Given the description of an element on the screen output the (x, y) to click on. 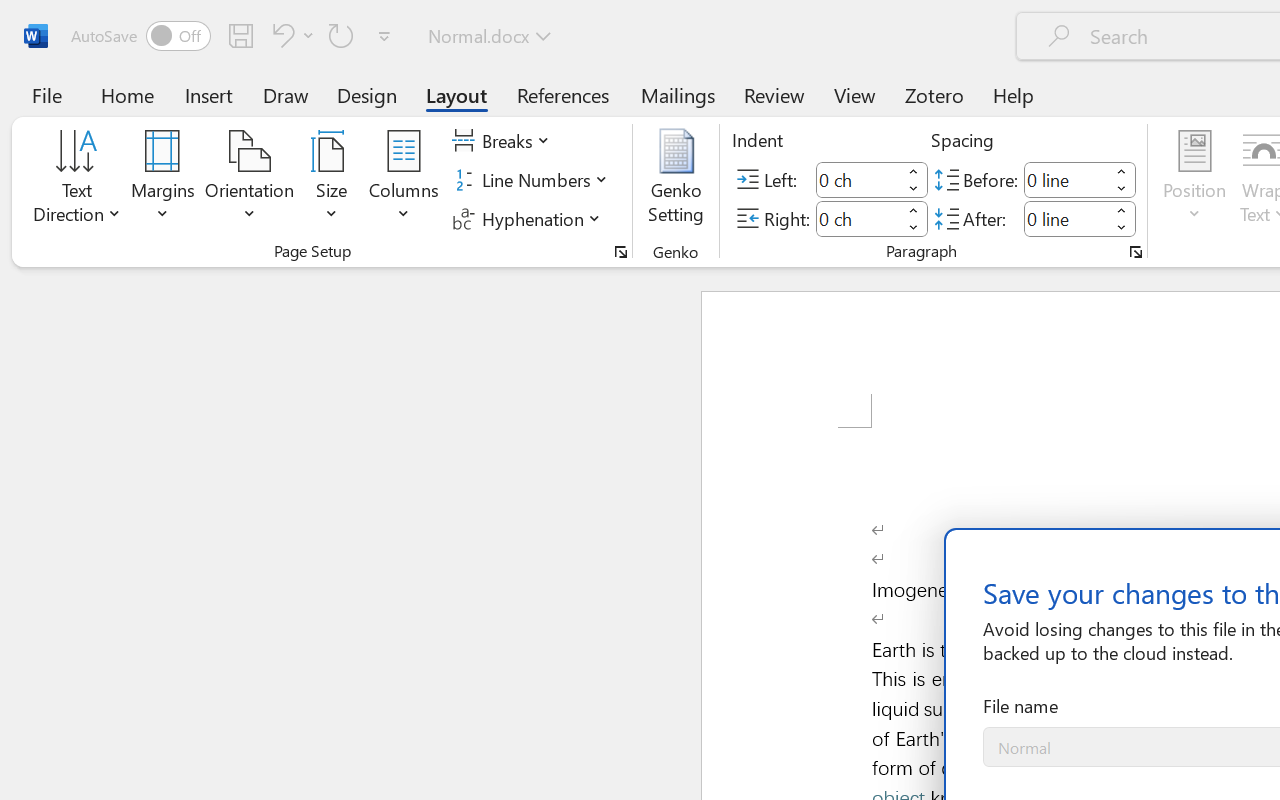
Position (1194, 179)
Columns (404, 179)
Less (1121, 227)
Page Setup... (621, 252)
Orientation (250, 179)
Breaks (504, 141)
Spacing After (1066, 218)
